Given the description of an element on the screen output the (x, y) to click on. 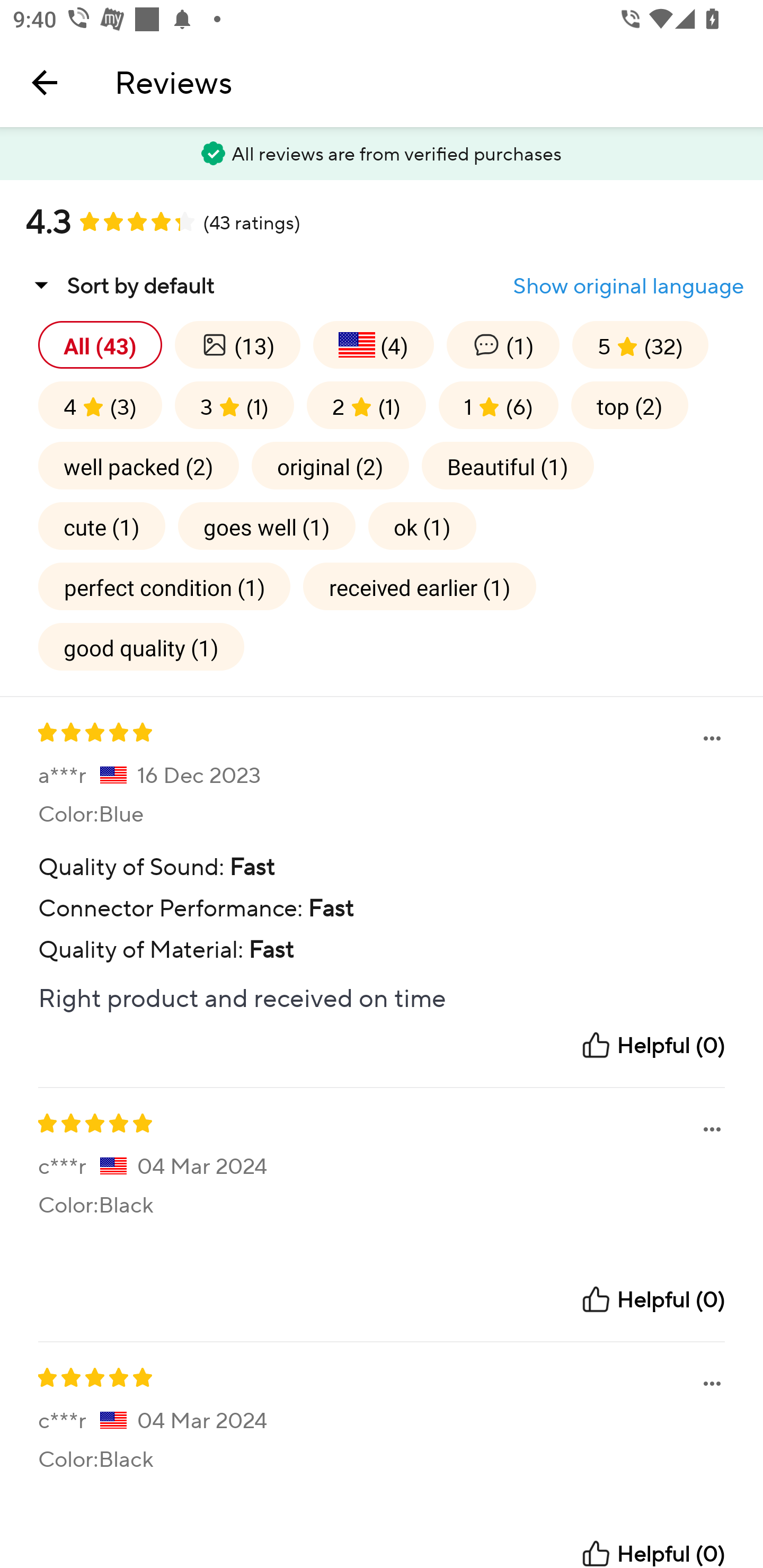
Navigate up (44, 82)
Sort by default (119, 285)
Show original language (627, 285)
All (43) (99, 344)
 (13) (237, 344)
 (4) (373, 344)
 (1) (502, 344)
5 (32) (640, 344)
4 (3) (99, 405)
3 (1) (233, 405)
2 (1) (365, 405)
1 (6) (498, 405)
top (2) (629, 405)
well packed (2) (138, 465)
original (2) (329, 465)
Beautiful (1) (507, 465)
cute (1) (101, 525)
goes well (1) (266, 525)
ok (1) (422, 525)
perfect condition (1) (164, 585)
received earlier (1) (419, 585)
good quality (1) (141, 646)
Helpful (0) (651, 1044)
Helpful (0) (651, 1299)
Helpful (0) (651, 1553)
